Given the description of an element on the screen output the (x, y) to click on. 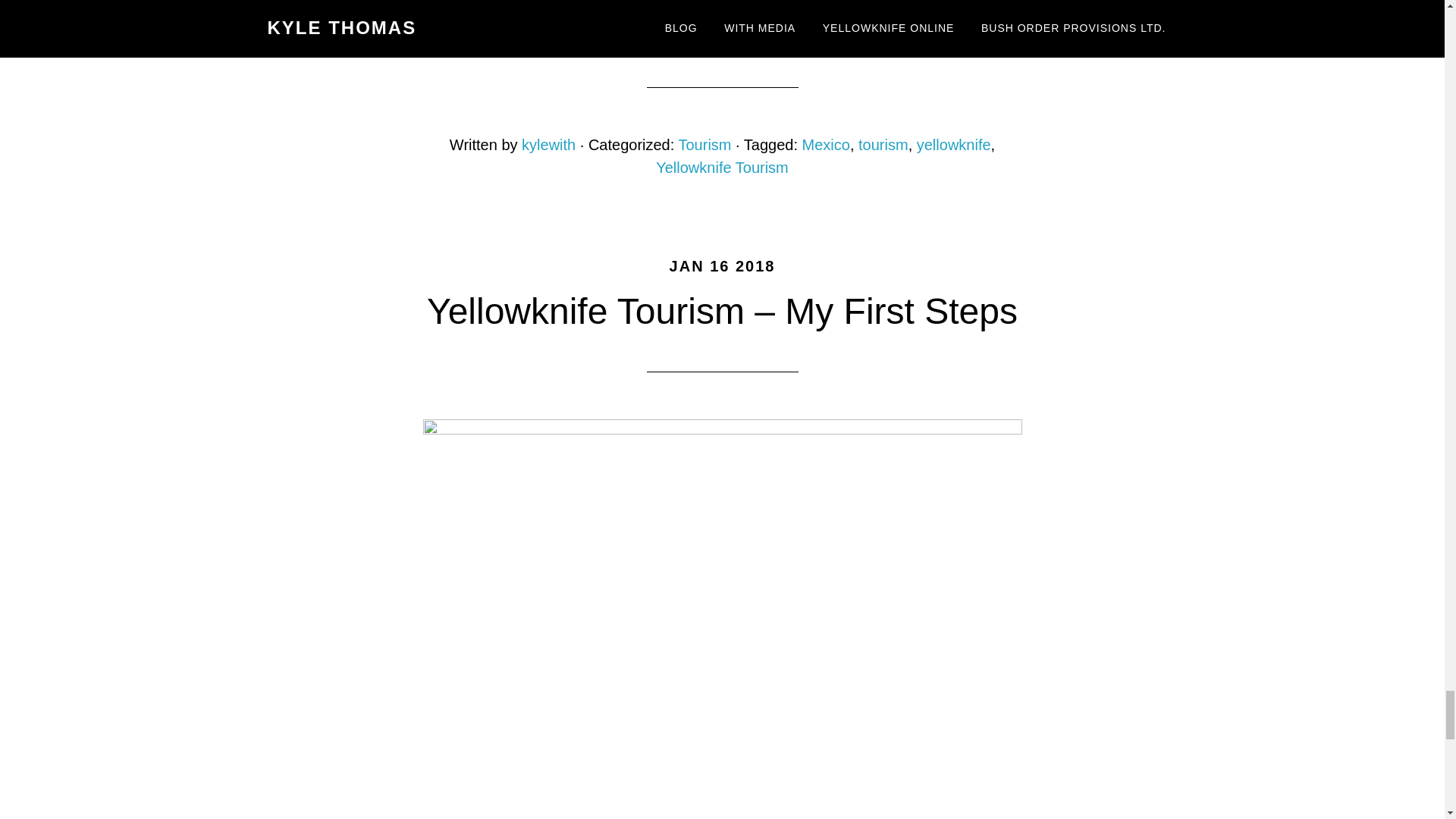
Mexico (826, 144)
yellowknife (954, 144)
kylewith (548, 144)
tourism (883, 144)
Tourism (704, 144)
